Given the description of an element on the screen output the (x, y) to click on. 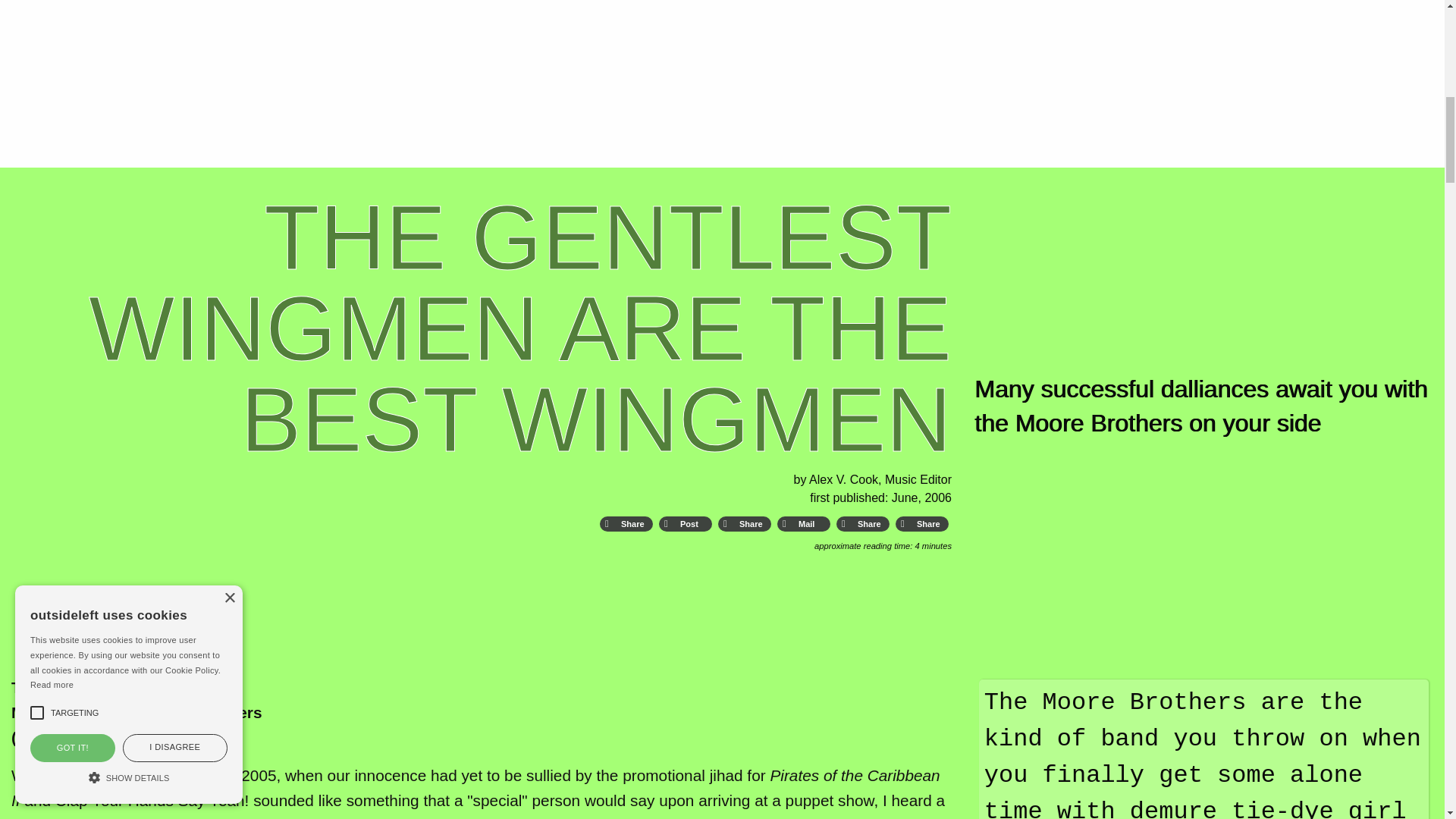
Email This (803, 523)
Facebook (626, 523)
More Options (922, 523)
SMS (862, 523)
WhatsApp (744, 523)
